Given the description of an element on the screen output the (x, y) to click on. 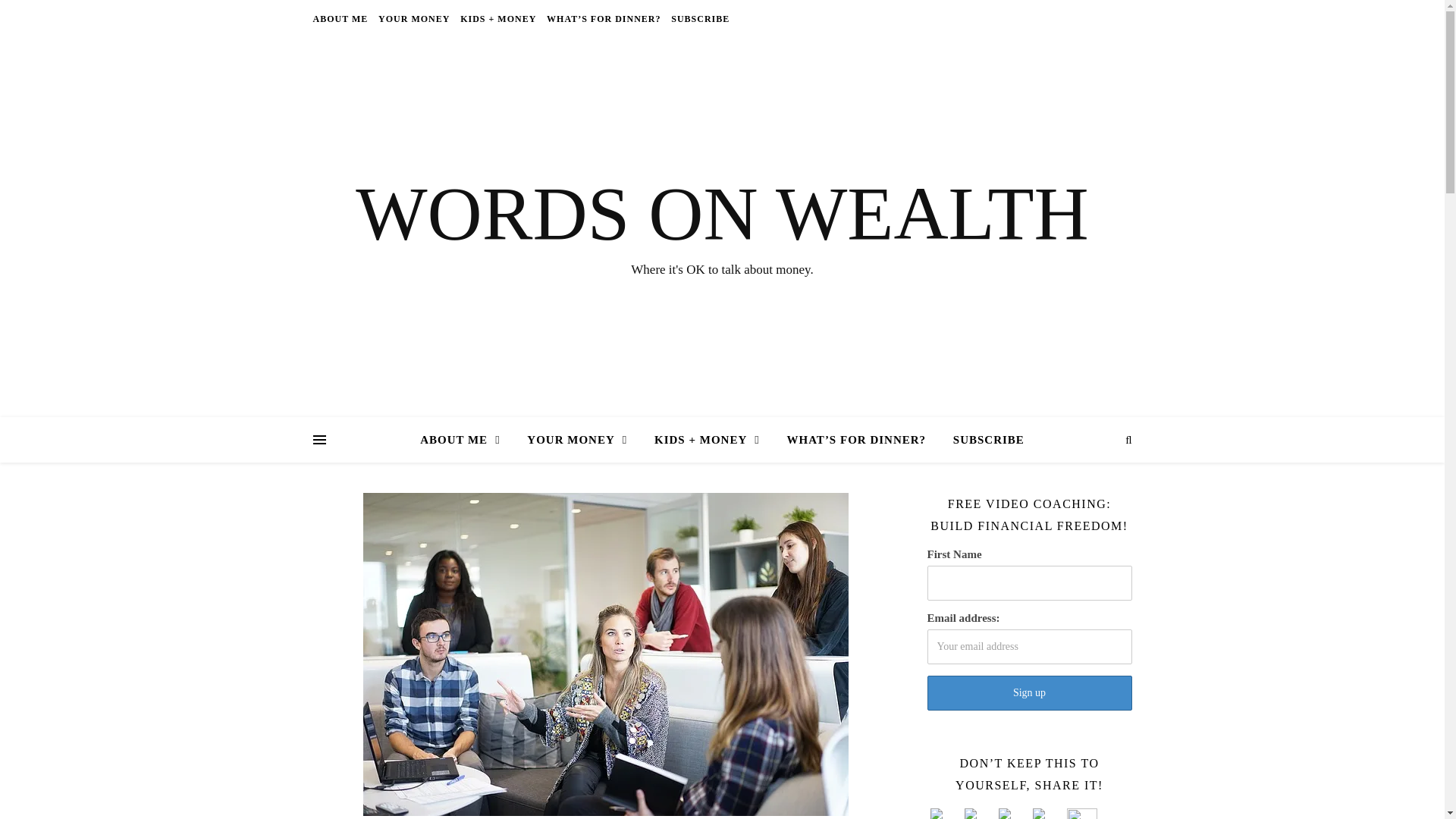
YOUR MONEY (413, 18)
Follow by Email (978, 813)
Twitter (1047, 813)
SUBSCRIBE (697, 18)
Sign up (1028, 692)
RSS (944, 813)
SUBSCRIBE (982, 439)
ABOUT ME (342, 18)
Facebook (1012, 813)
ABOUT ME (466, 439)
